Given the description of an element on the screen output the (x, y) to click on. 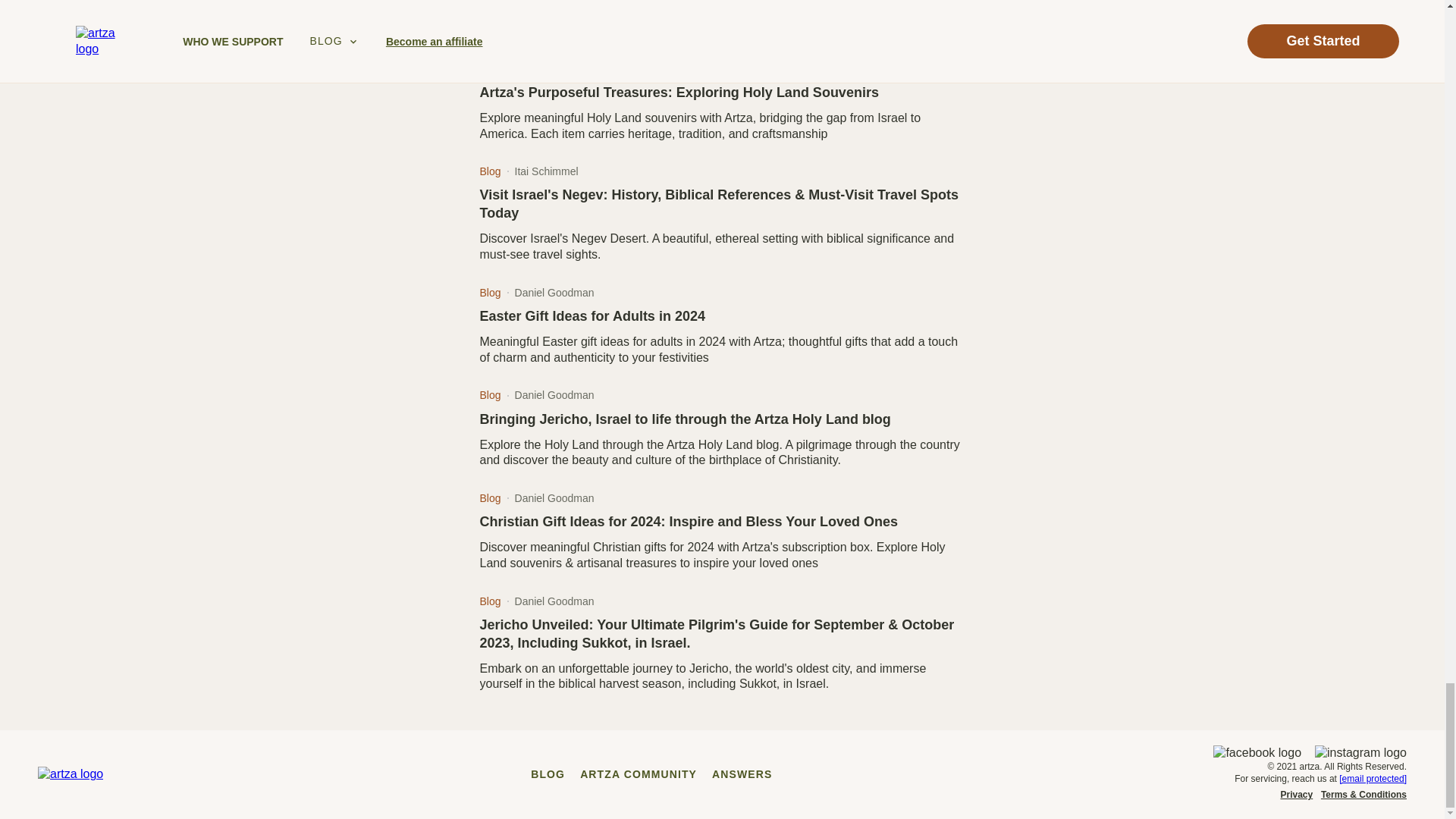
Blog (489, 65)
